Given the description of an element on the screen output the (x, y) to click on. 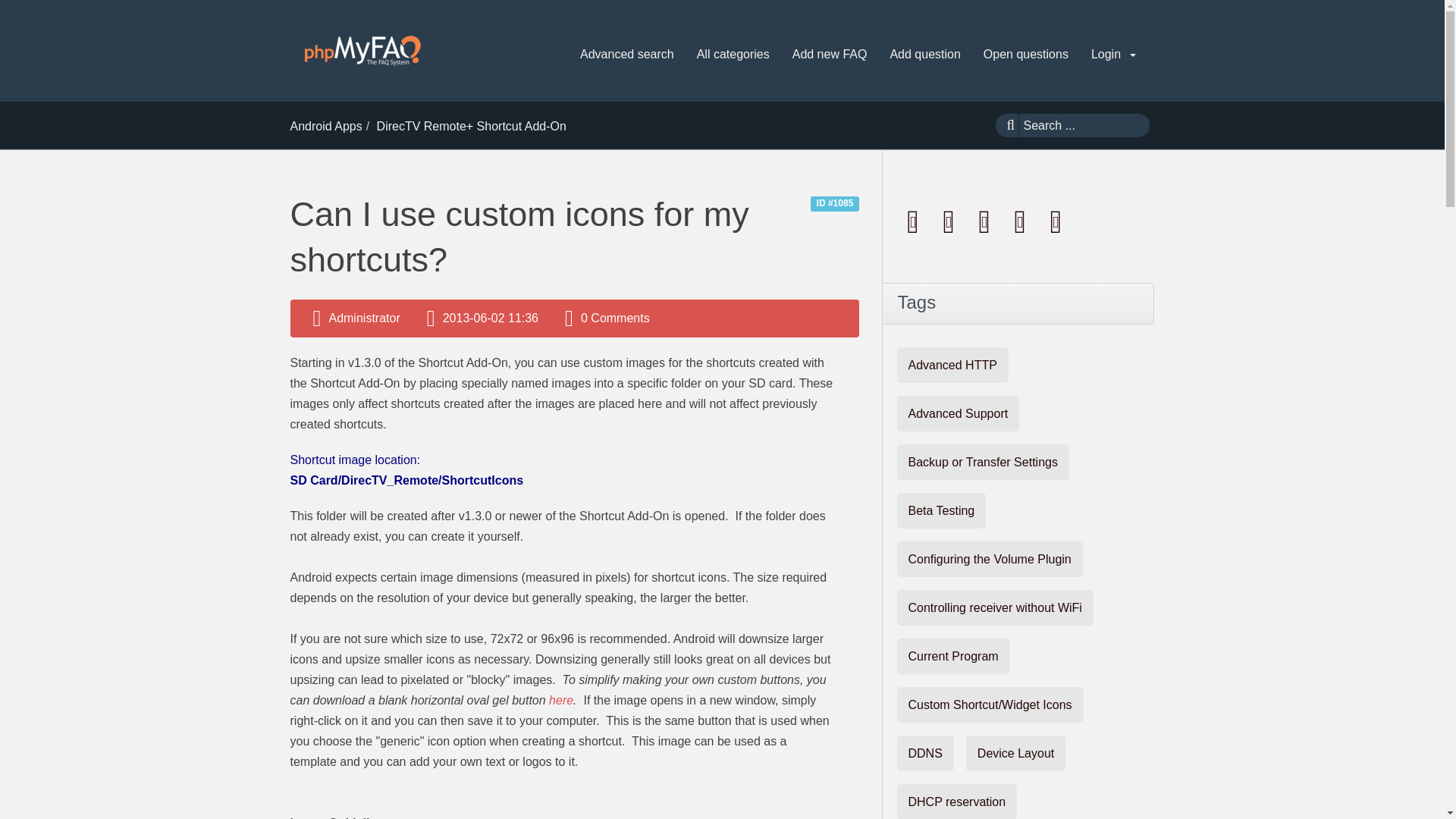
Beta Testing (940, 510)
Android Apps (325, 125)
Device Layout (1015, 753)
All categories (732, 53)
DHCP reservation (956, 801)
Backup or Transfer Settings (982, 461)
Controlling receiver without WiFi (994, 607)
Login (1112, 53)
PDF version (913, 221)
here (560, 699)
